Given the description of an element on the screen output the (x, y) to click on. 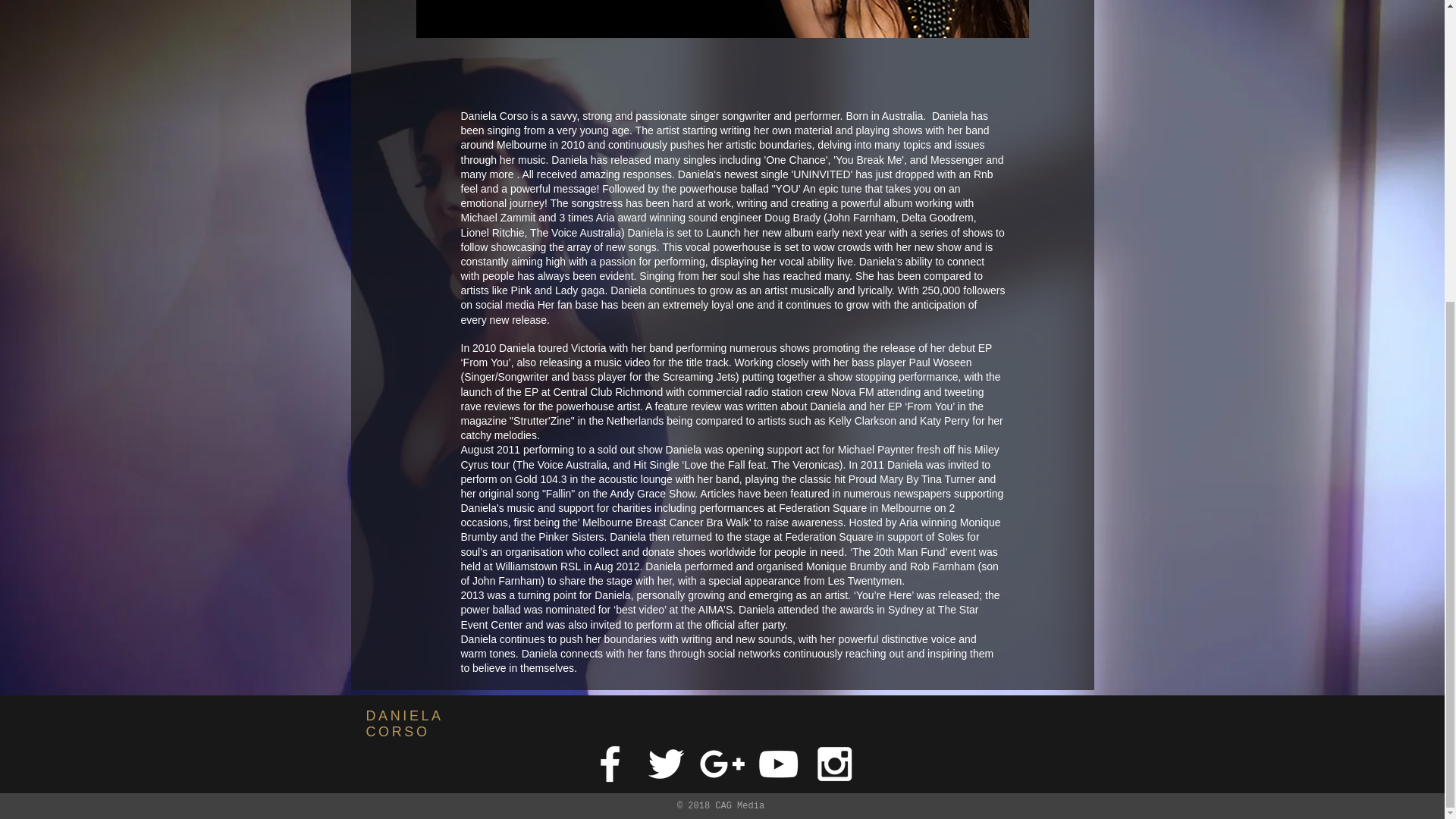
DANIELA     CORSO (416, 252)
